Given the description of an element on the screen output the (x, y) to click on. 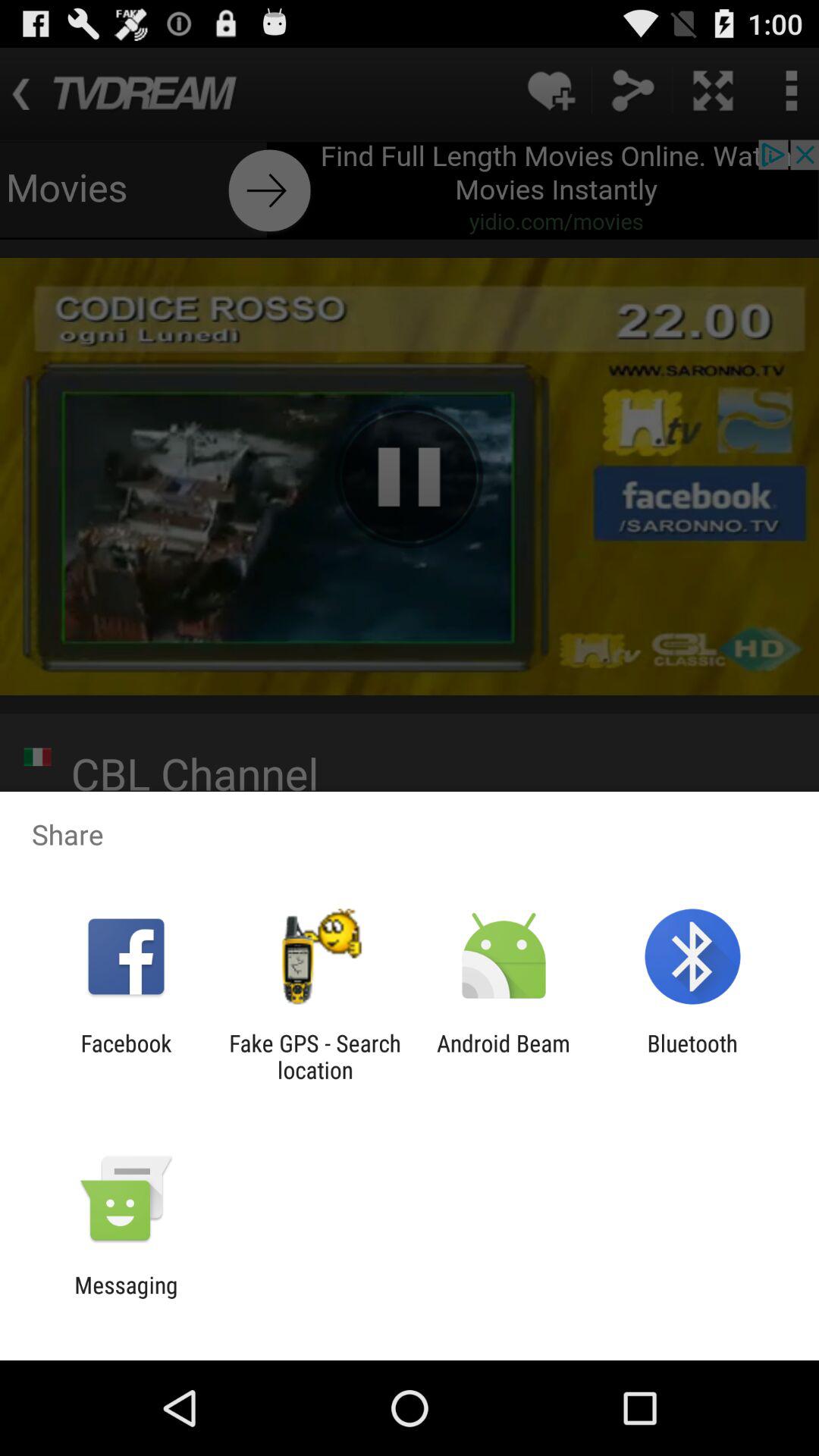
press facebook (125, 1056)
